Given the description of an element on the screen output the (x, y) to click on. 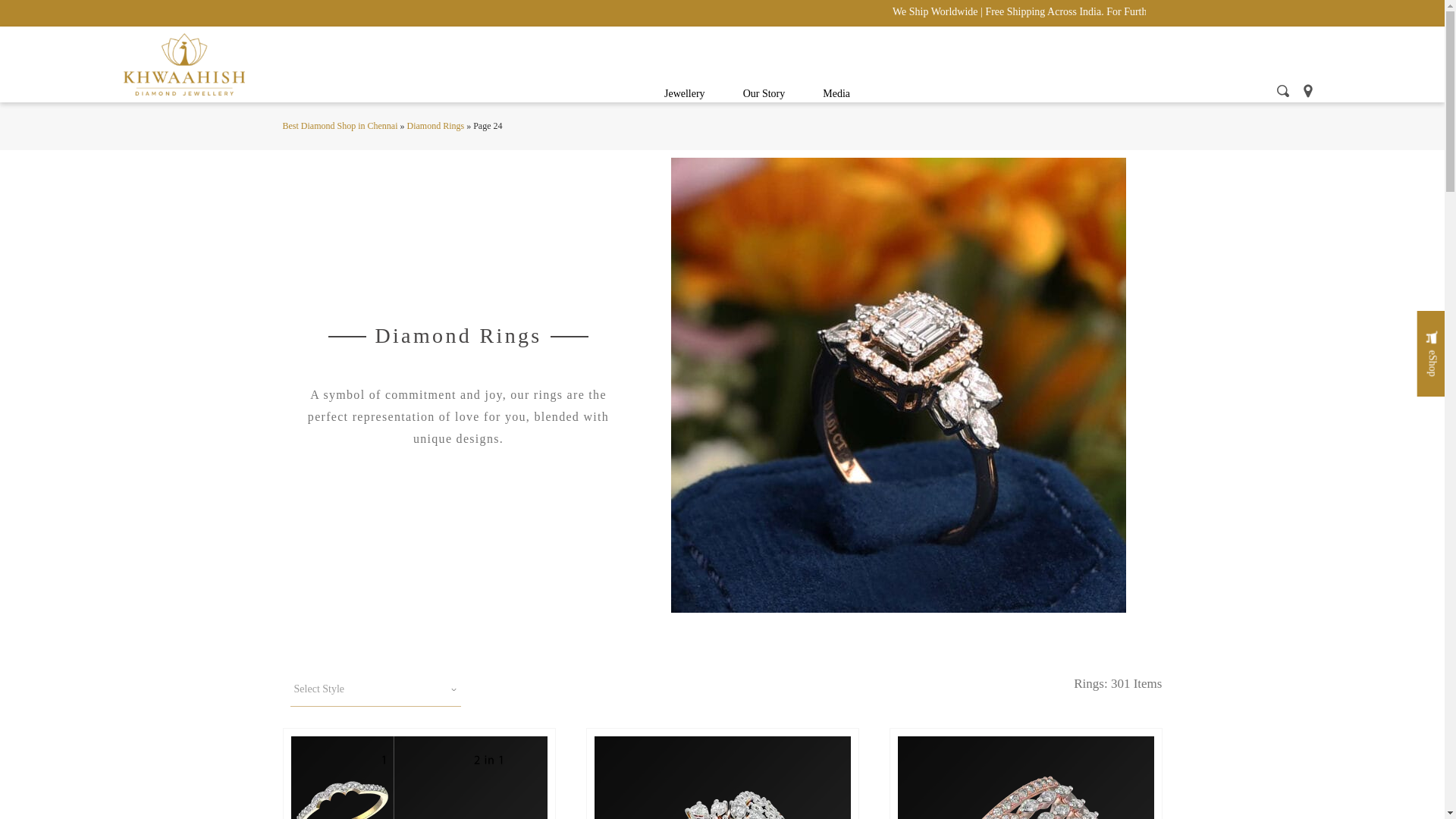
Jewellery (683, 93)
Media (836, 93)
Our Story (764, 93)
